Given the description of an element on the screen output the (x, y) to click on. 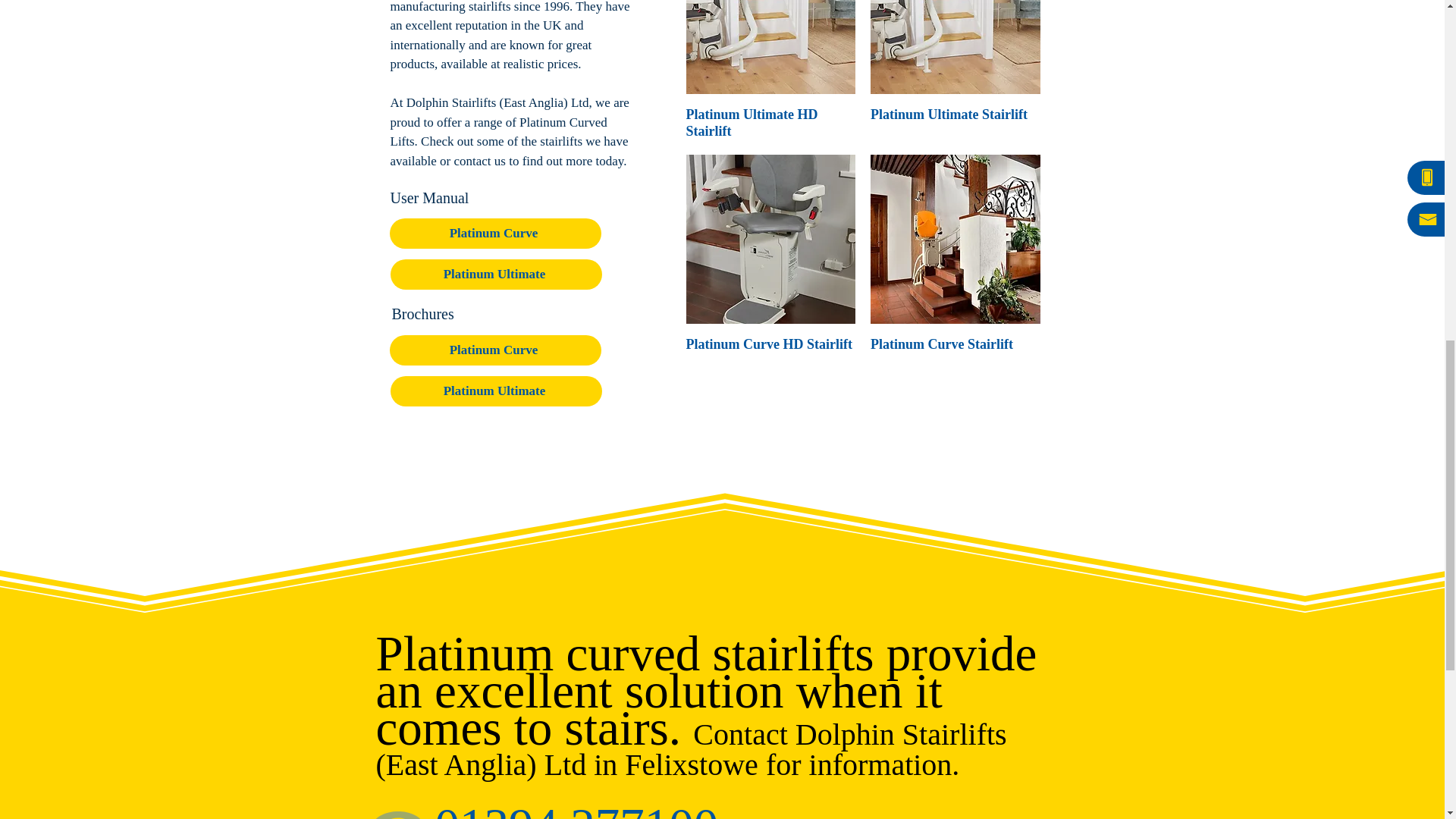
Platinum Ultimate HD Stairlift (770, 122)
Platinum Ultimate (495, 390)
Platinum Ultimate Stairlift (955, 122)
Platinum Curve (495, 233)
Platinum Curve Stairlift (955, 343)
Platinum Curve (495, 349)
Platinum Curve HD Stairlift (770, 343)
01394 277100 (577, 816)
Platinum Ultimate (495, 274)
